Given the description of an element on the screen output the (x, y) to click on. 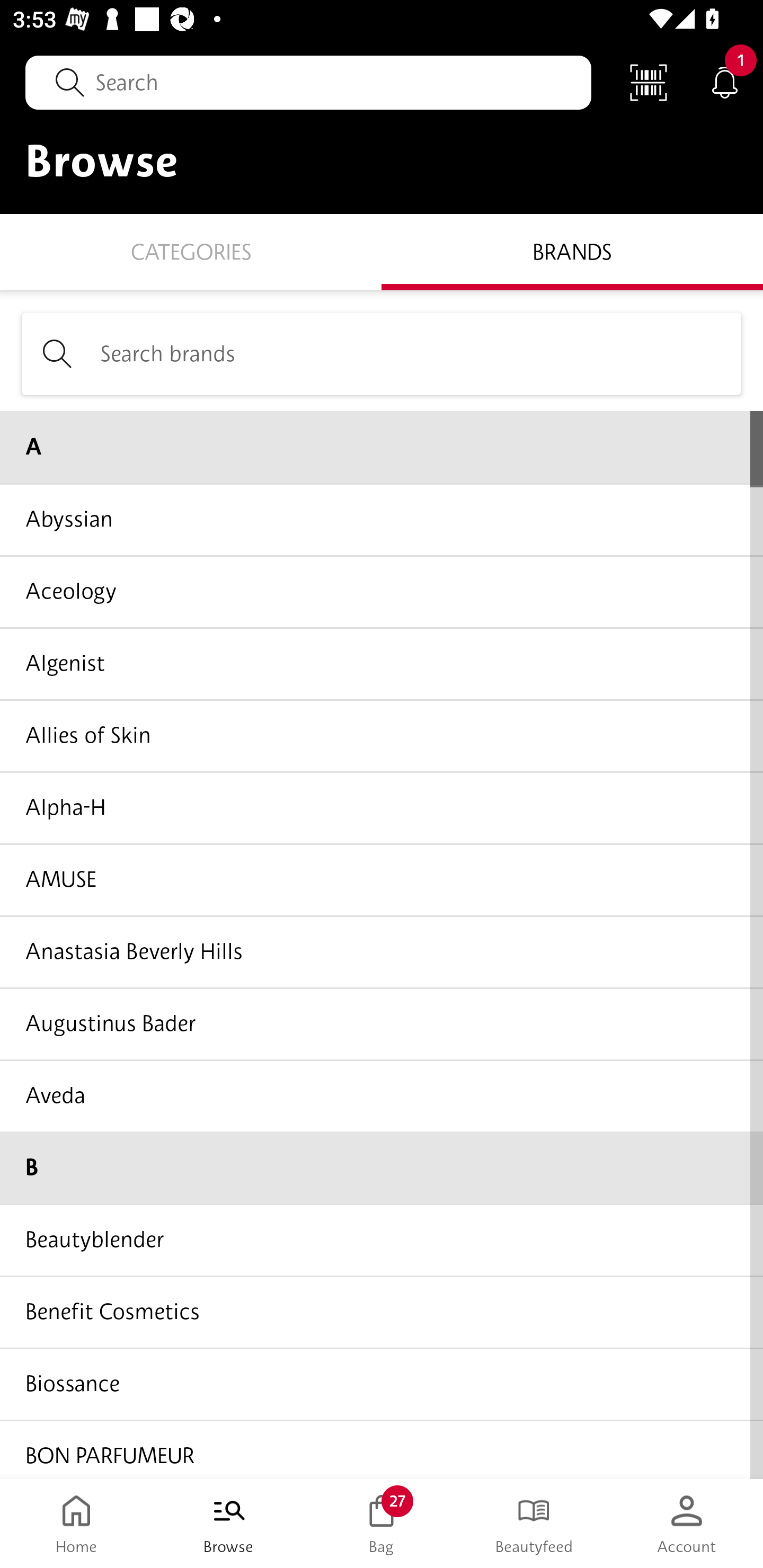
Scan Code (648, 81)
Notifications (724, 81)
Search (308, 81)
Categories CATEGORIES (190, 251)
Search brands (381, 353)
A (381, 446)
Abyssian (381, 518)
Aceology (381, 591)
Algenist (381, 663)
Allies of Skin (381, 735)
Alpha-H (381, 807)
AMUSE (381, 879)
Anastasia Beverly Hills (381, 951)
Augustinus Bader (381, 1023)
Aveda (381, 1095)
B (381, 1168)
Beautyblender (381, 1240)
Benefit Cosmetics (381, 1311)
Biossance (381, 1382)
BON PARFUMEUR (381, 1448)
Home (76, 1523)
Bag 27 Bag (381, 1523)
Beautyfeed (533, 1523)
Account (686, 1523)
